Given the description of an element on the screen output the (x, y) to click on. 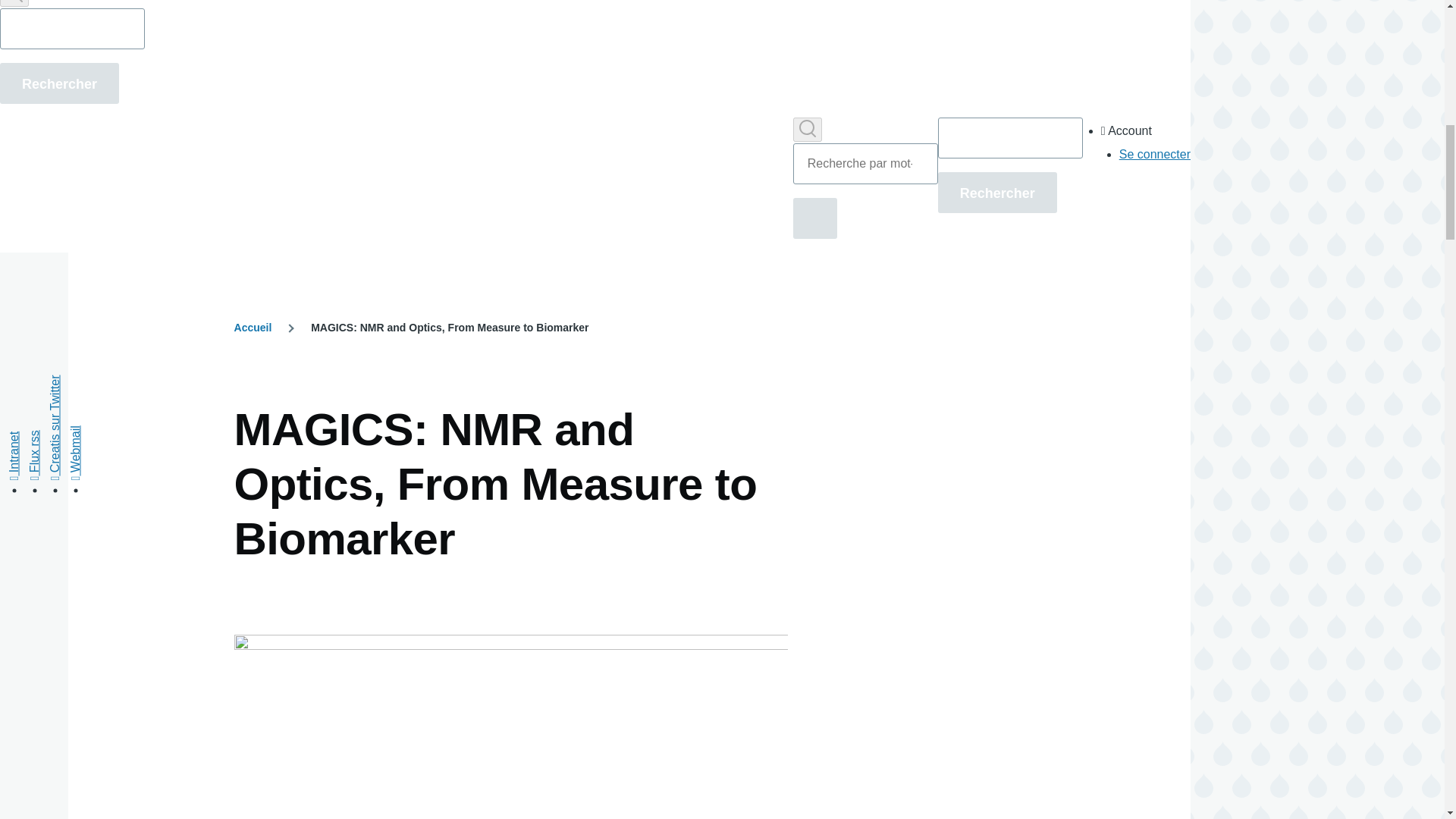
Rechercher (59, 83)
Intranet (31, 437)
Rechercher (997, 191)
Rechercher (59, 83)
